Given the description of an element on the screen output the (x, y) to click on. 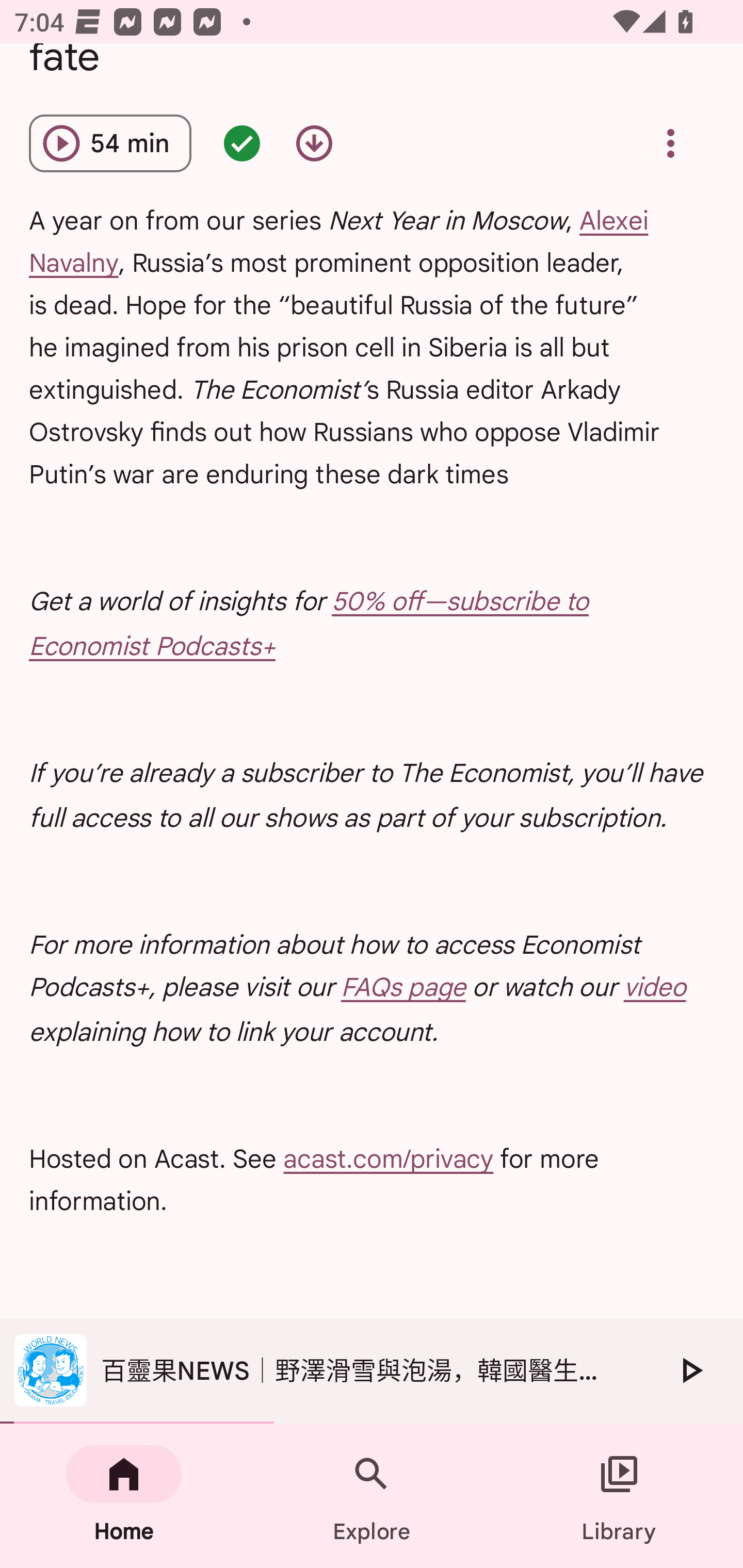
Episode queued - double tap for options (241, 143)
Download episode (313, 143)
Overflow menu (670, 143)
Play (690, 1370)
Explore (371, 1495)
Library (619, 1495)
